Given the description of an element on the screen output the (x, y) to click on. 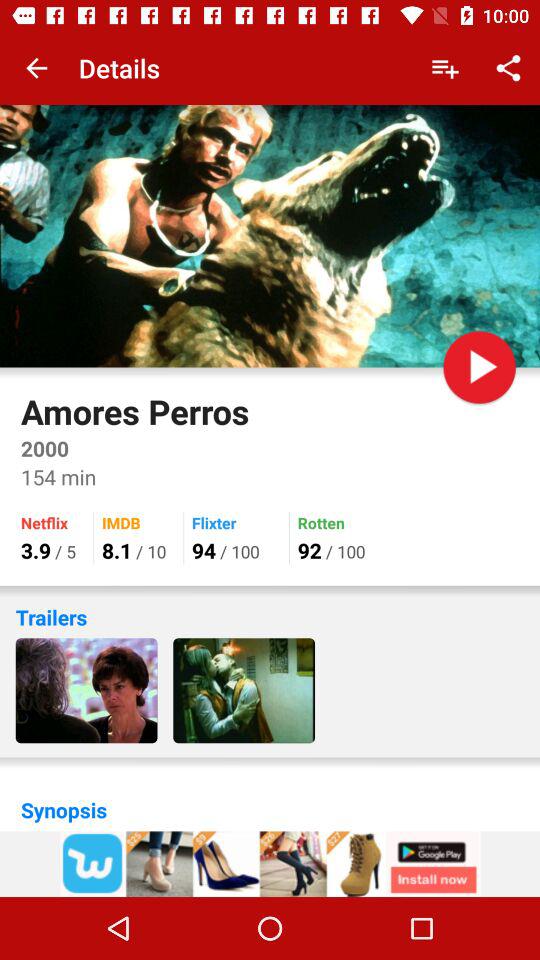
go to wish advertisement page (270, 864)
